Given the description of an element on the screen output the (x, y) to click on. 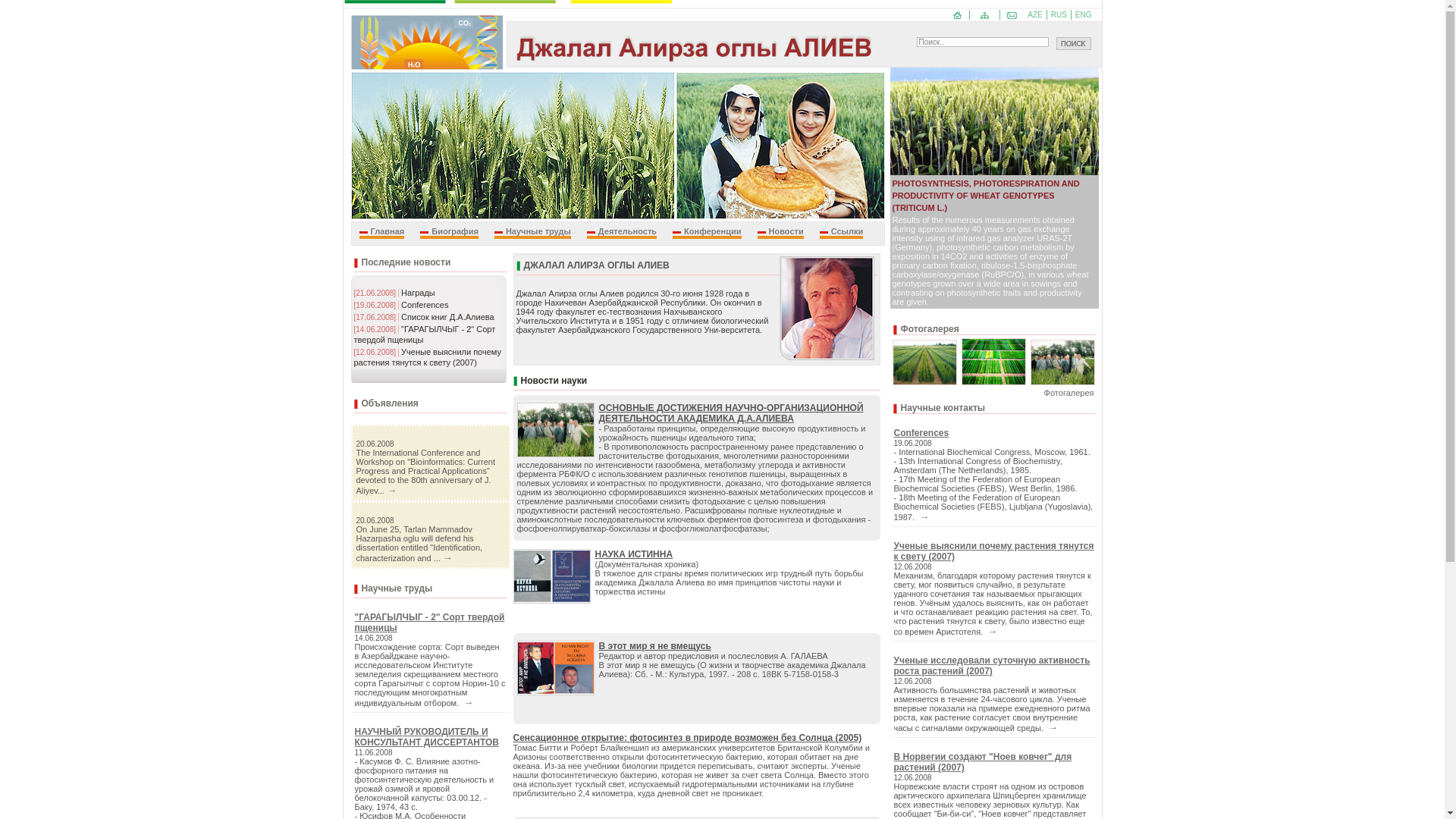
ENG Element type: text (1085, 14)
Conferences Element type: text (424, 304)
RUS Element type: text (1061, 14)
AZE Element type: text (1036, 14)
Conferences Element type: text (920, 432)
